Given the description of an element on the screen output the (x, y) to click on. 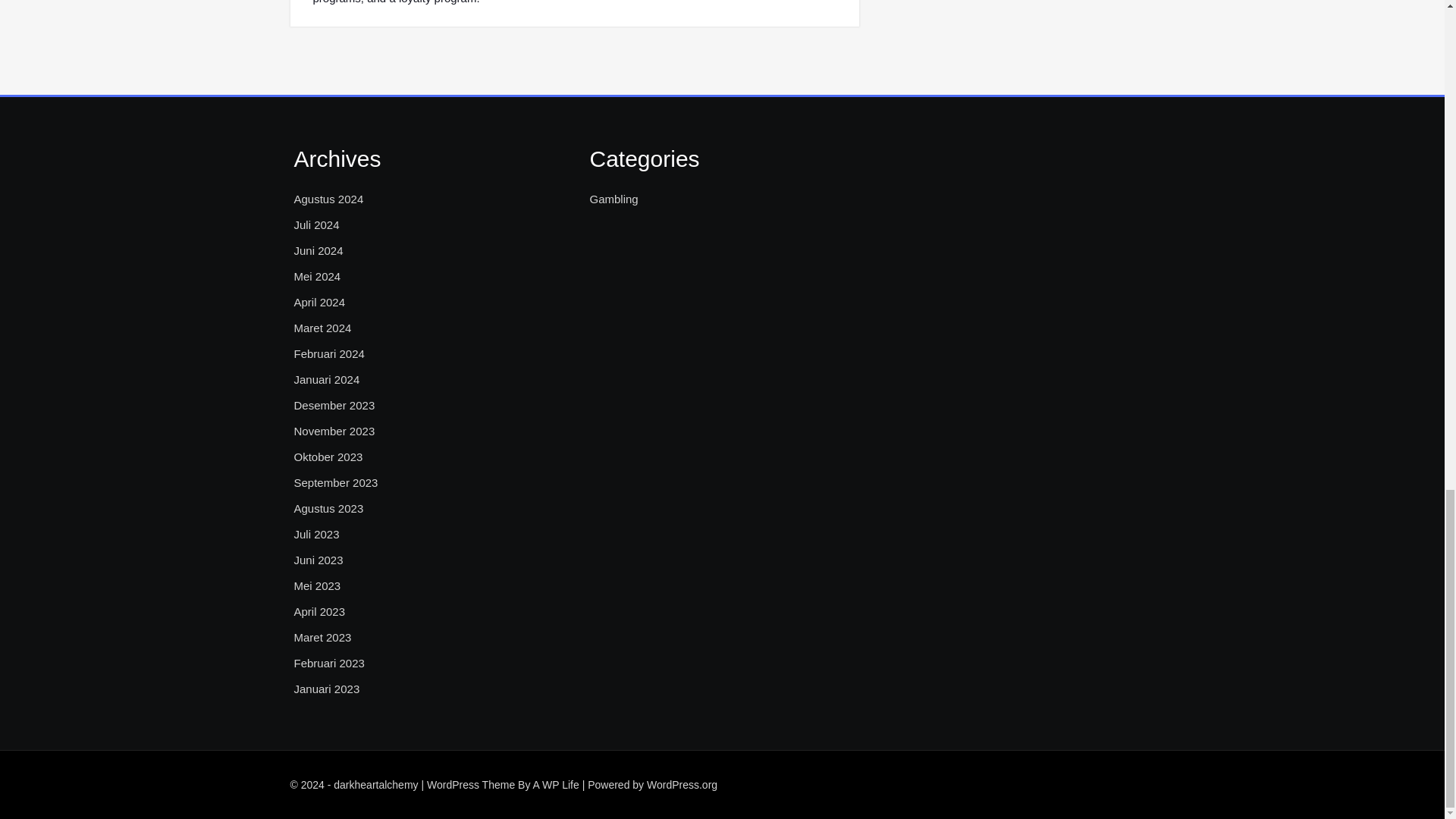
Juli 2024 (316, 225)
Oktober 2023 (328, 456)
Februari 2024 (329, 353)
Desember 2023 (334, 405)
April 2023 (320, 611)
Juni 2024 (318, 250)
Mei 2024 (317, 276)
Januari 2024 (326, 380)
Juni 2023 (318, 560)
Maret 2024 (323, 328)
Mei 2023 (317, 586)
November 2023 (334, 431)
September 2023 (336, 483)
April 2024 (320, 302)
Agustus 2023 (329, 508)
